Given the description of an element on the screen output the (x, y) to click on. 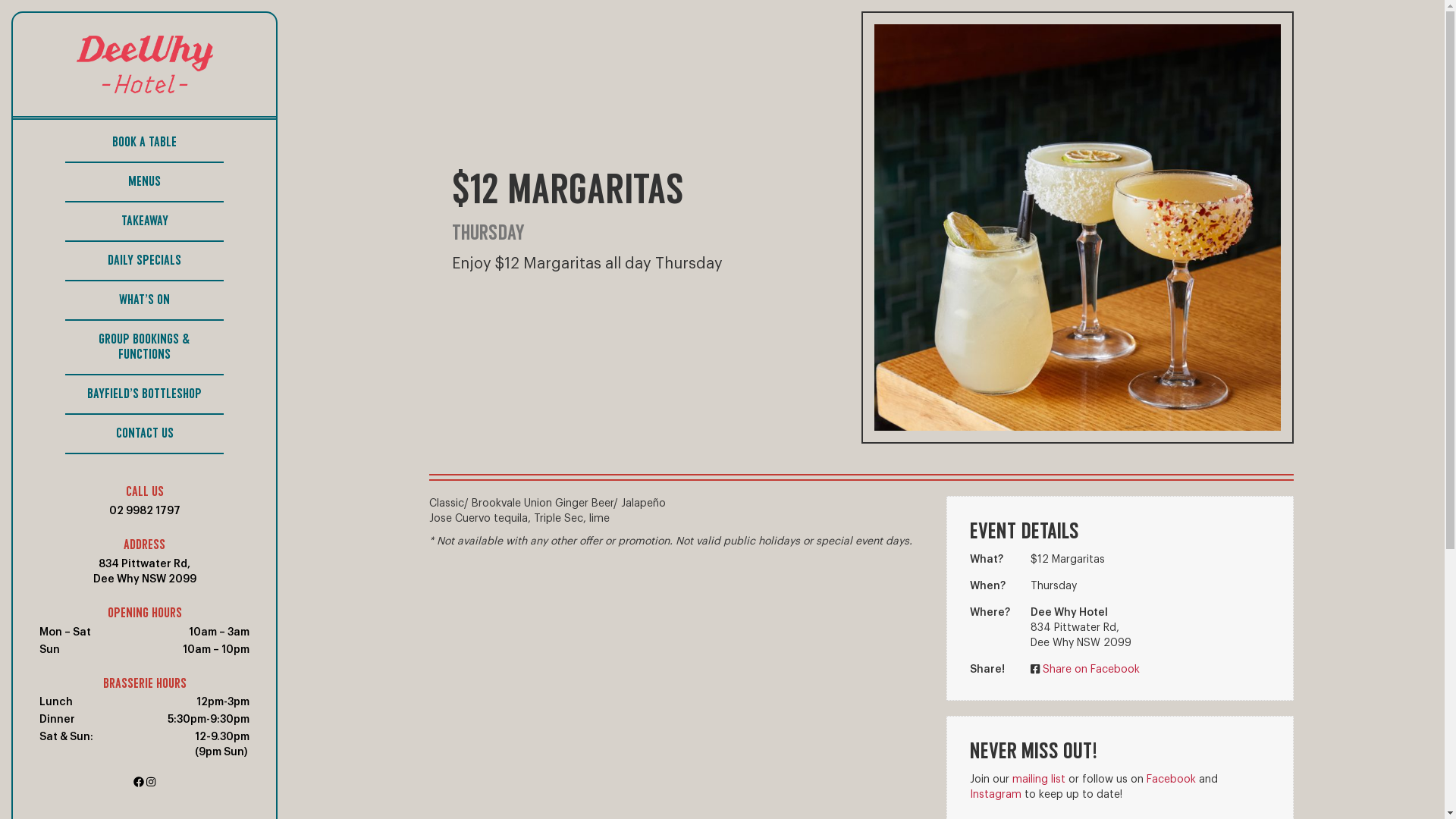
834 Pittwater Rd,
Dee Why NSW 2099 Element type: text (143, 571)
Contact Us Element type: text (143, 434)
Group Bookings & Functions Element type: text (143, 347)
Daily Specials Element type: text (143, 261)
Share on Facebook Element type: text (1090, 669)
Book a Table Element type: text (143, 143)
Takeaway Element type: text (143, 221)
Menus Element type: text (143, 182)
Instagram Element type: text (995, 794)
Facebook Element type: text (1170, 779)
mailing list Element type: text (1038, 779)
02 9982 1797 Element type: text (144, 510)
